Given the description of an element on the screen output the (x, y) to click on. 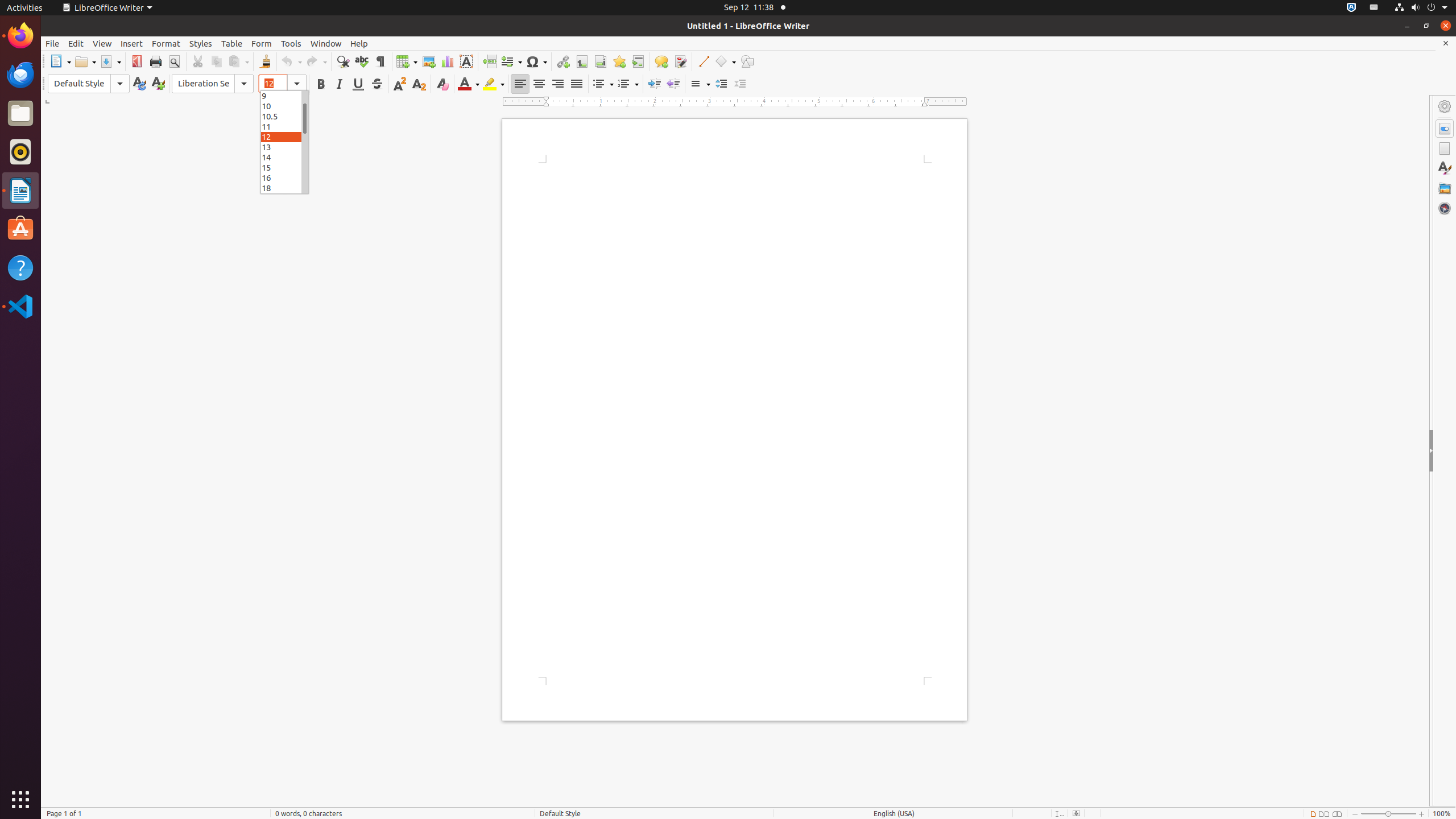
Open Element type: push-button (84, 61)
org.kde.StatusNotifierItem-14077-1 Element type: menu (1373, 7)
Rhythmbox Element type: push-button (20, 151)
Field Element type: push-button (510, 61)
Font Name Element type: combo-box (212, 83)
